Given the description of an element on the screen output the (x, y) to click on. 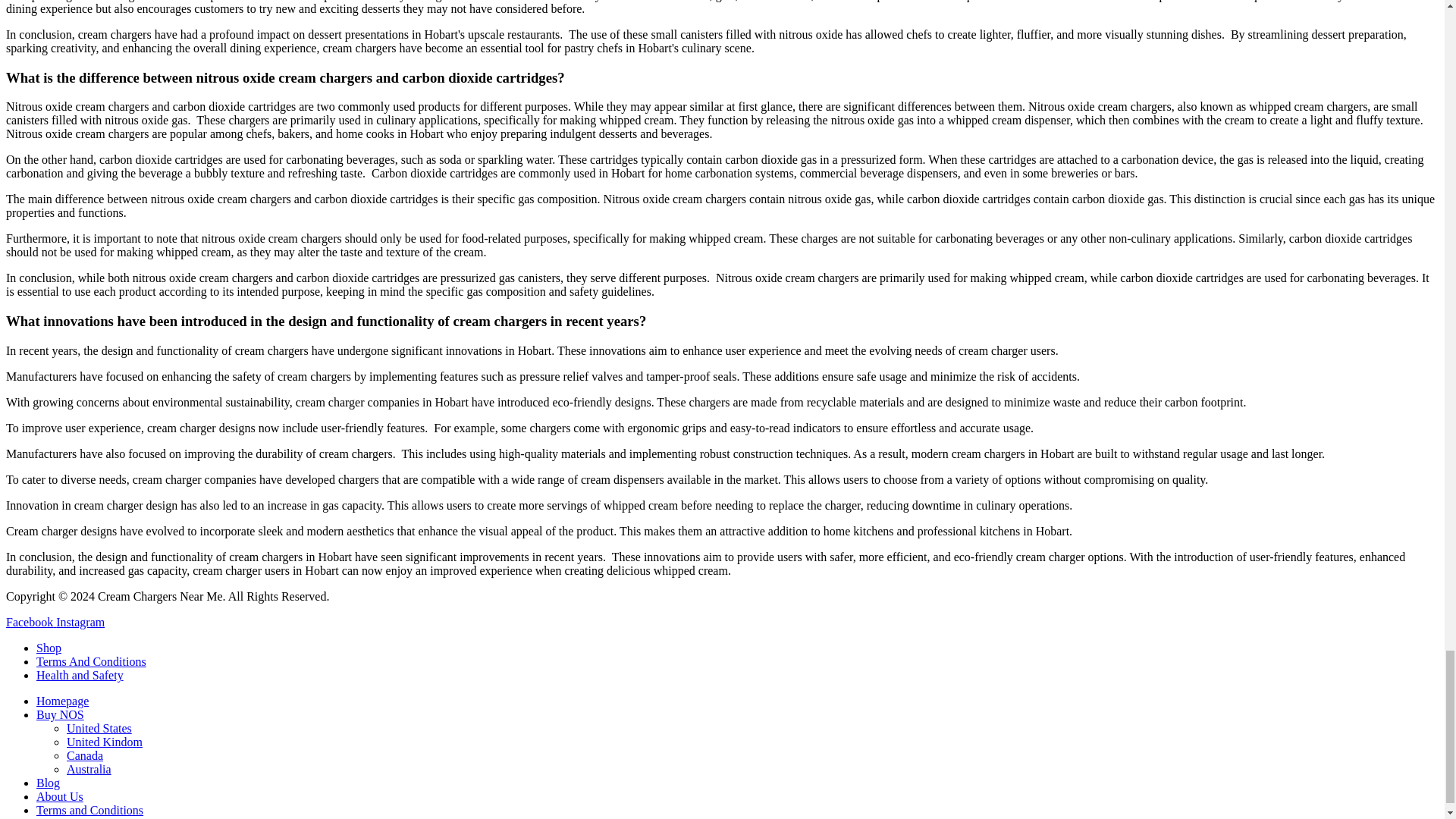
Terms And Conditions (91, 661)
Instagram (80, 621)
Facebook (30, 621)
Shop (48, 647)
Health and Safety (79, 675)
